Given the description of an element on the screen output the (x, y) to click on. 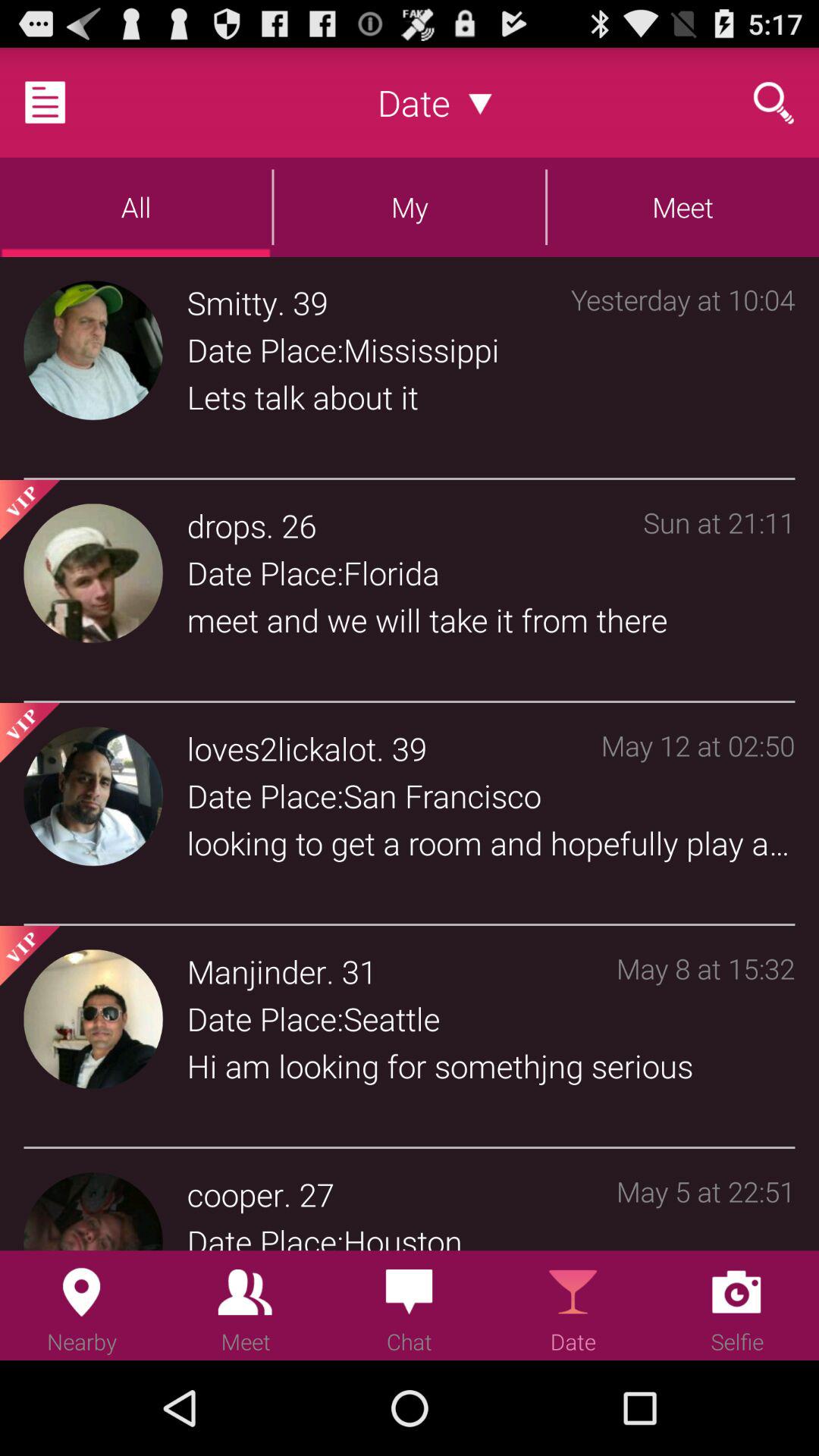
turn on icon next to sun at 21 item (298, 525)
